Given the description of an element on the screen output the (x, y) to click on. 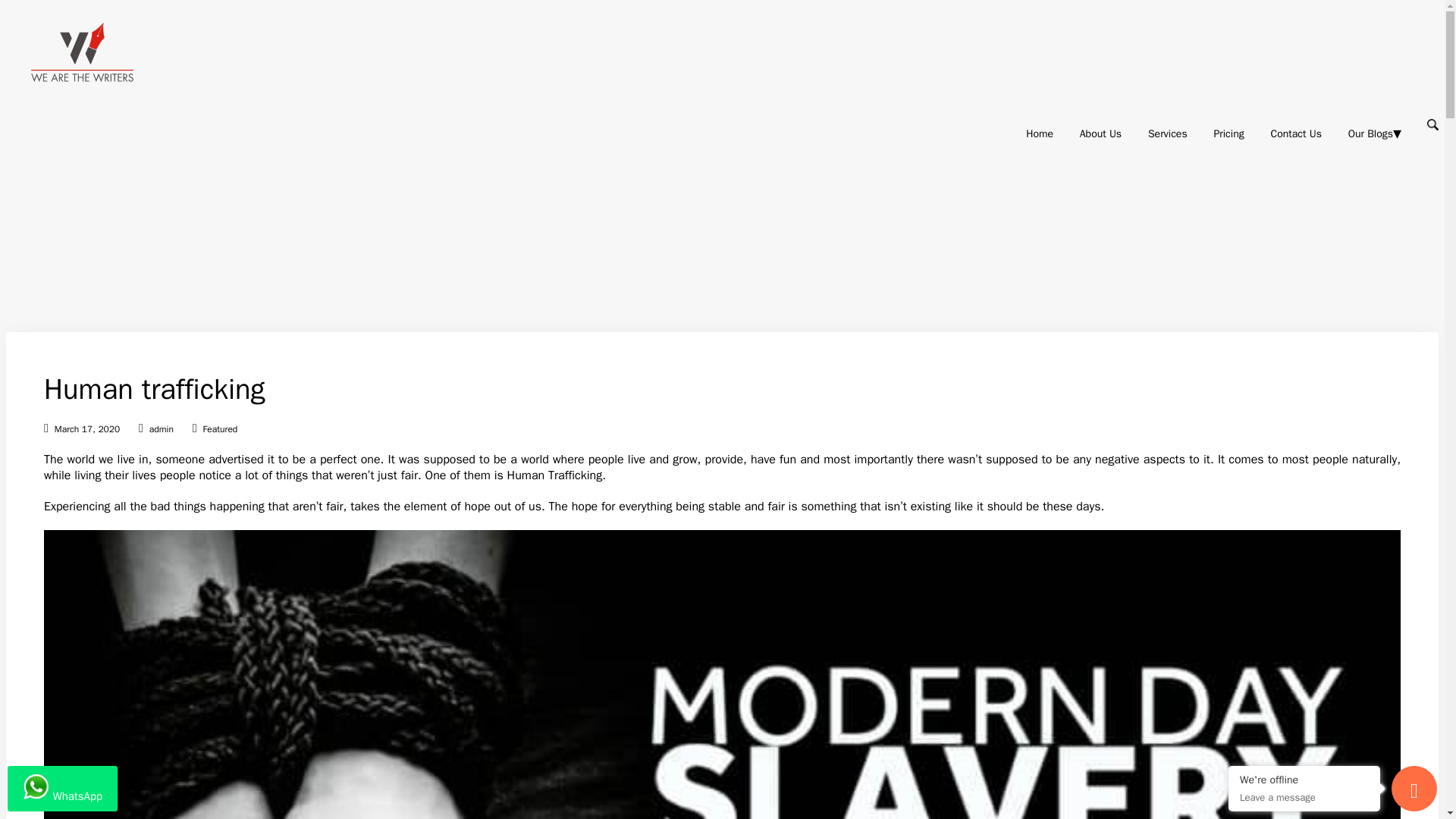
Home (1039, 133)
Human trafficking (153, 389)
Contact Us (1296, 133)
Our Blogs (1370, 133)
Pricing (1227, 133)
About Us (1100, 133)
We're offline (1304, 782)
Services (1168, 133)
Featured (220, 428)
